Given the description of an element on the screen output the (x, y) to click on. 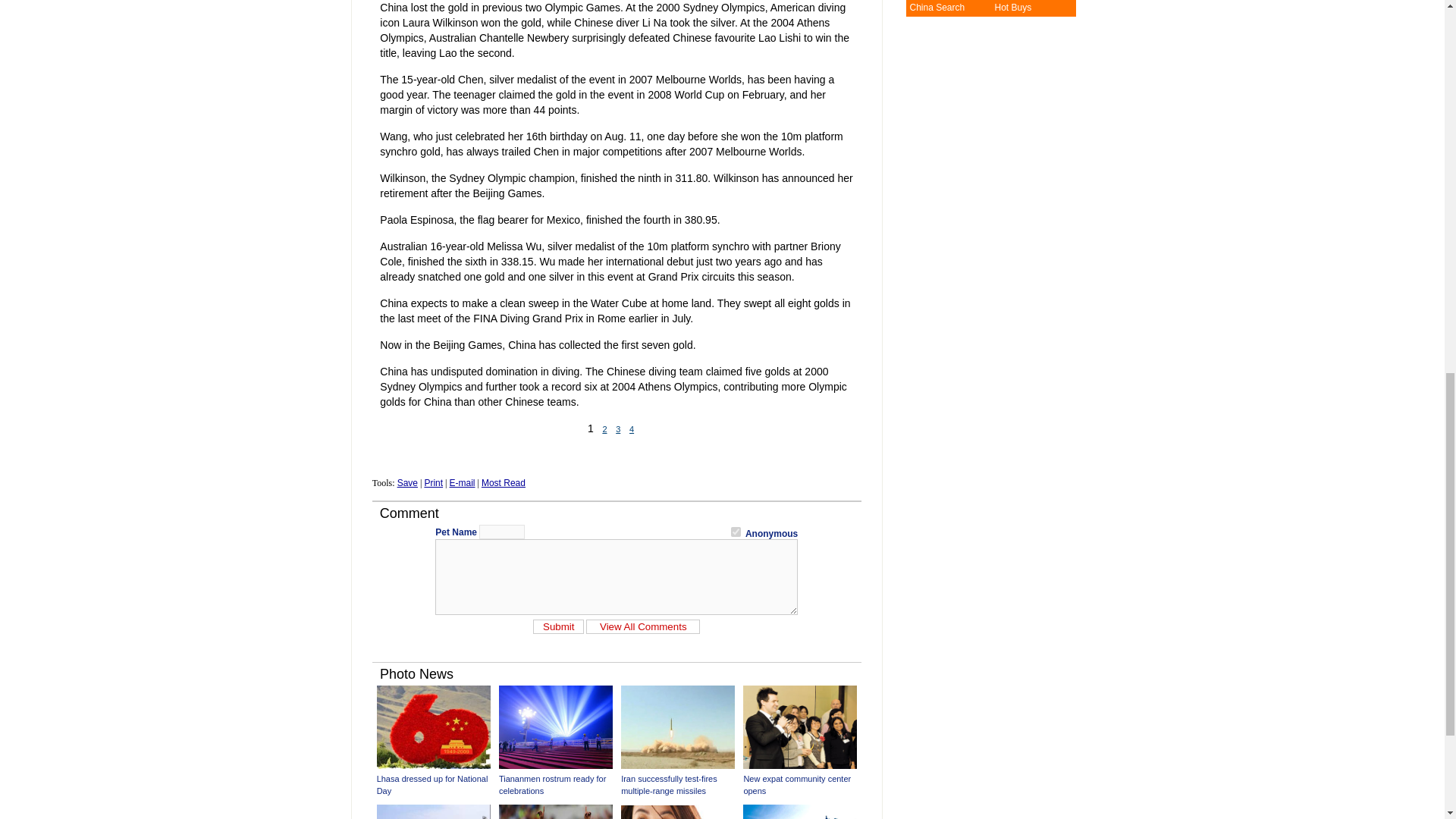
Save (407, 482)
1 (735, 532)
Print (432, 482)
Alibaba China (935, 7)
Most Read (503, 482)
Hot Products (1012, 7)
E-mail (461, 482)
View All Comments (643, 626)
Submit (557, 626)
